Given the description of an element on the screen output the (x, y) to click on. 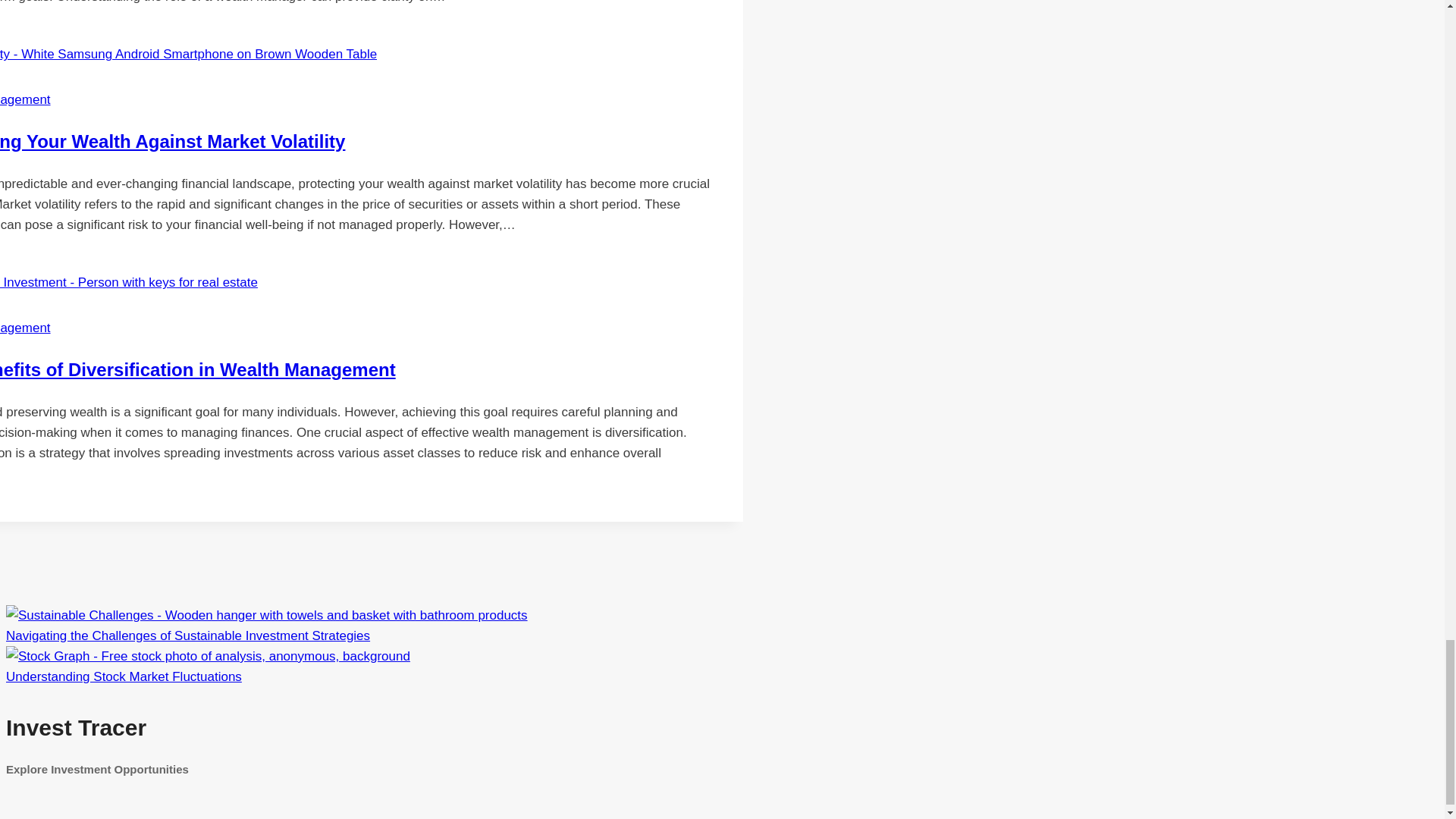
Understanding Stock Market Fluctuations (207, 656)
Wealth Management (25, 99)
Protecting Your Wealth Against Market Volatility (172, 141)
